Given the description of an element on the screen output the (x, y) to click on. 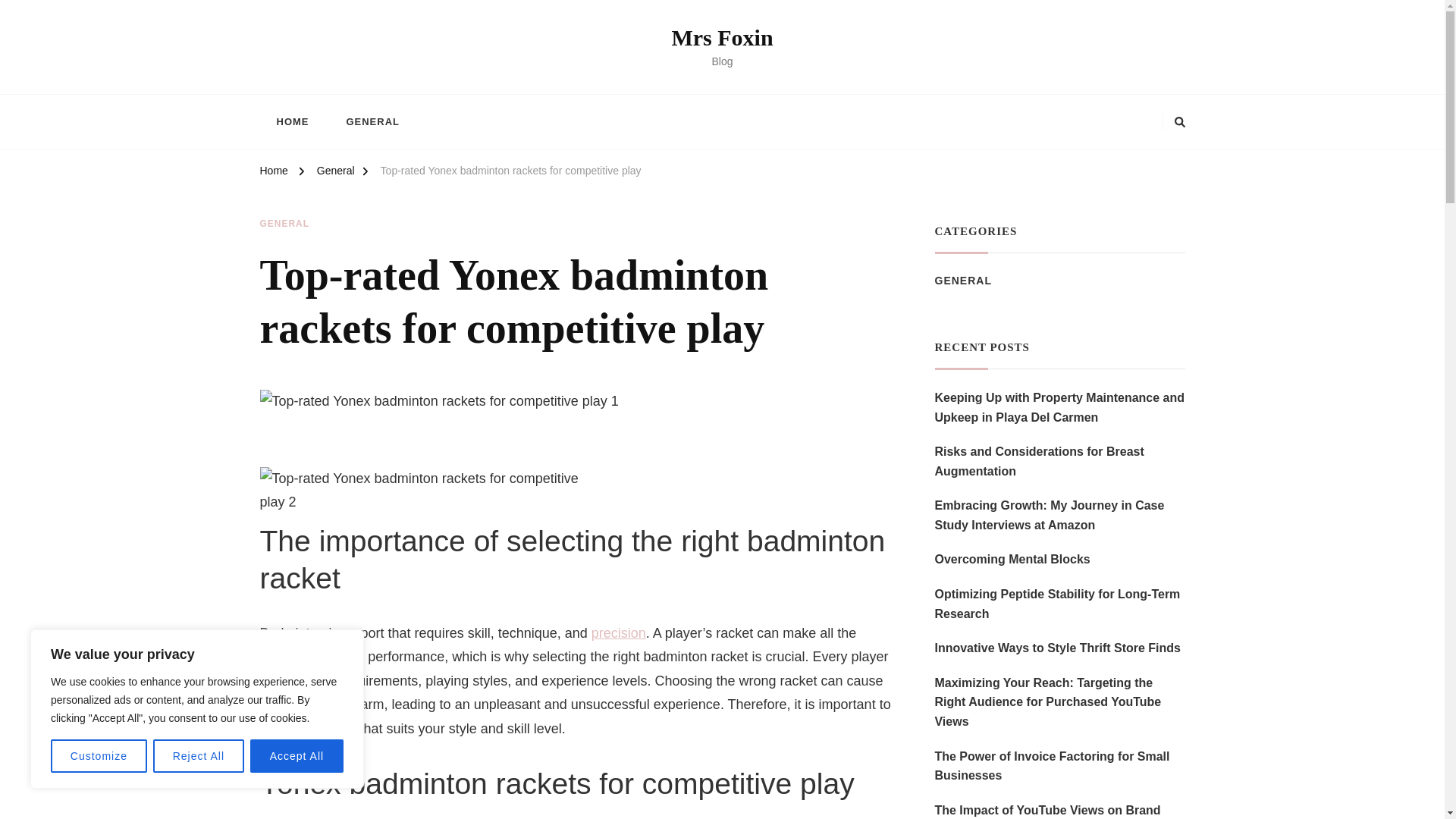
precision (618, 632)
General (336, 172)
Accept All (296, 756)
GENERAL (371, 121)
Top-rated Yonex badminton rackets for competitive play (511, 172)
Home (272, 172)
Mrs Foxin (722, 37)
GENERAL (283, 223)
HOME (291, 121)
Reject All (198, 756)
